Given the description of an element on the screen output the (x, y) to click on. 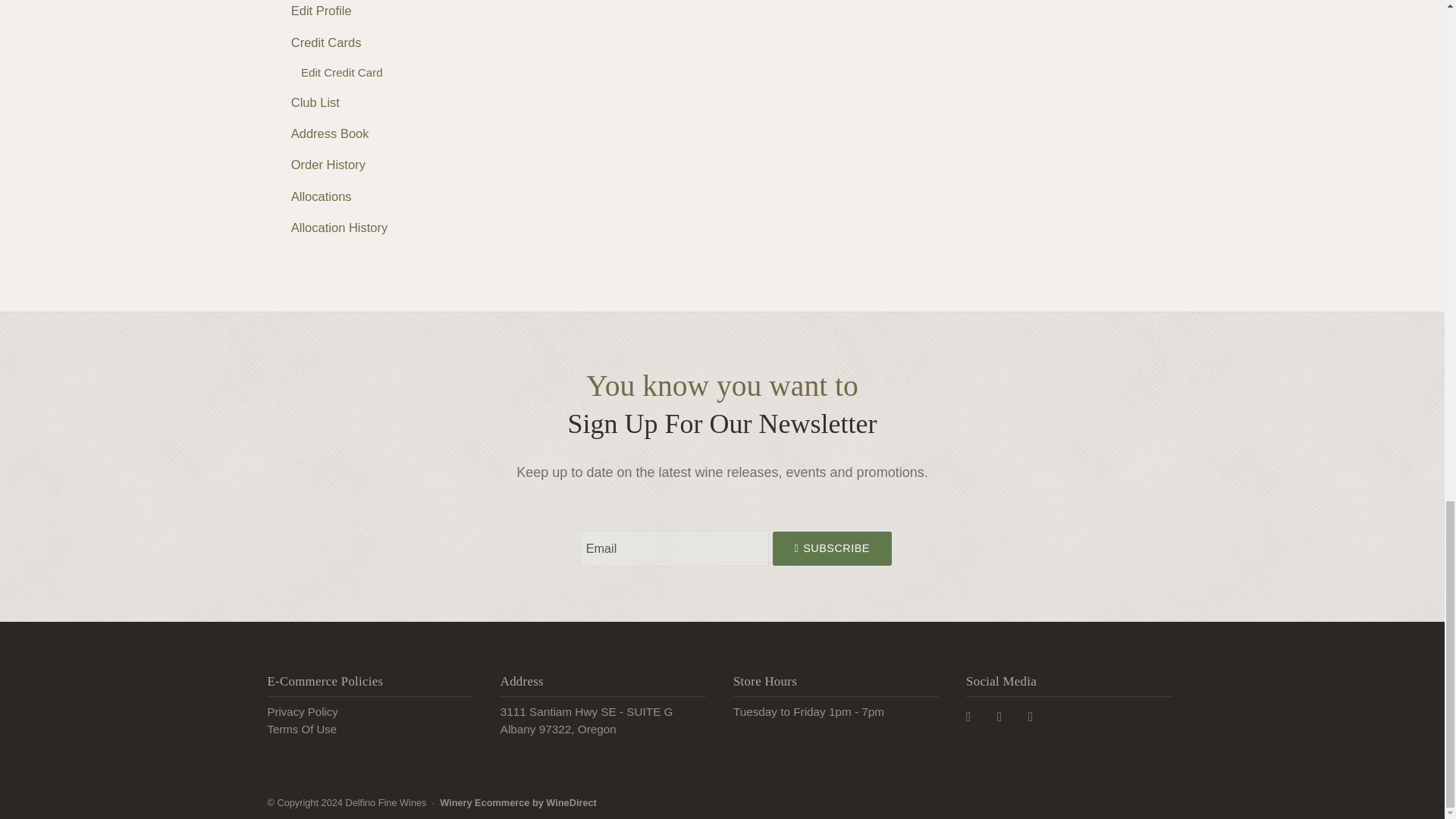
Email (673, 548)
